Given the description of an element on the screen output the (x, y) to click on. 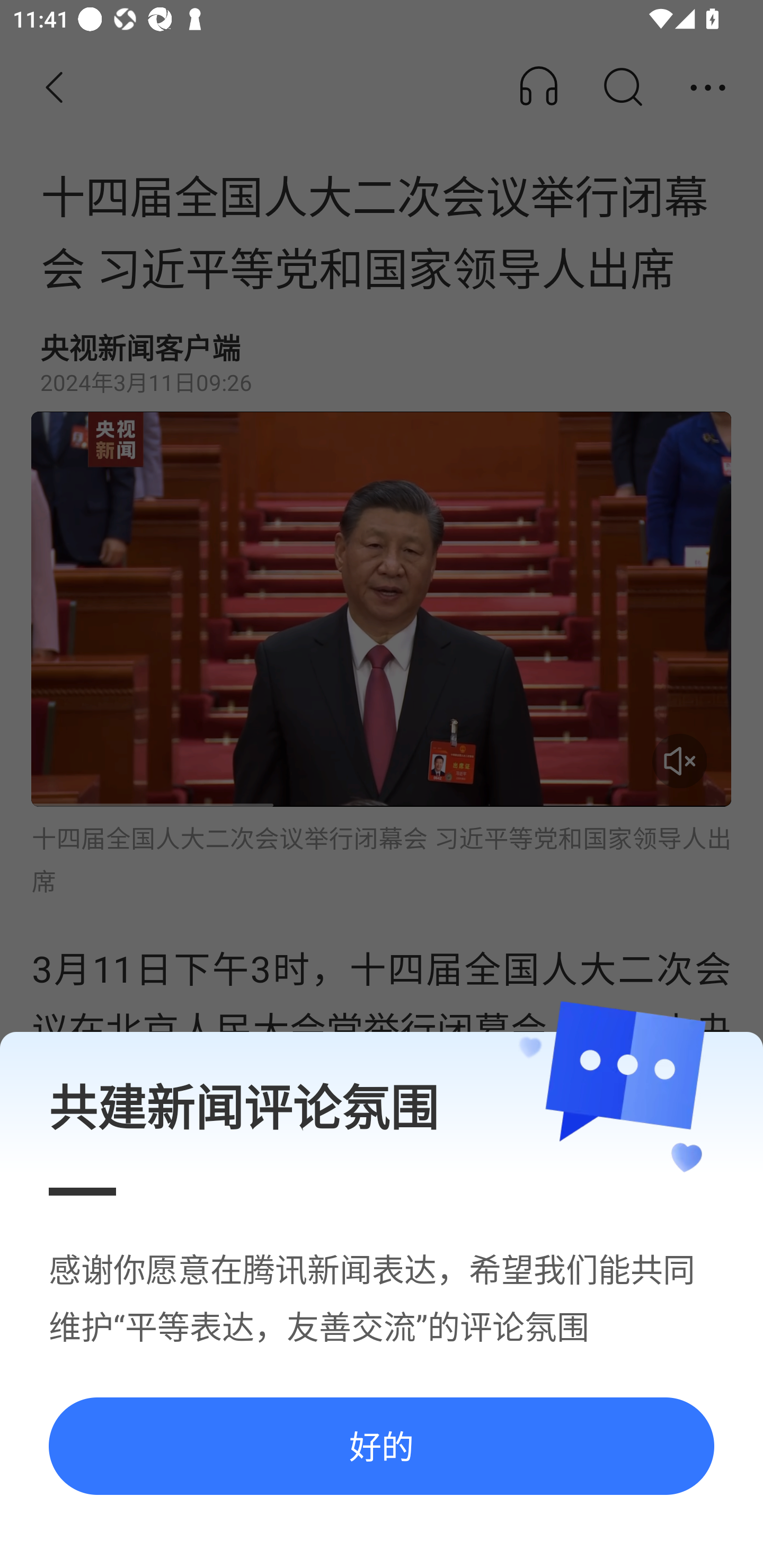
好的 (381, 1445)
